Given the description of an element on the screen output the (x, y) to click on. 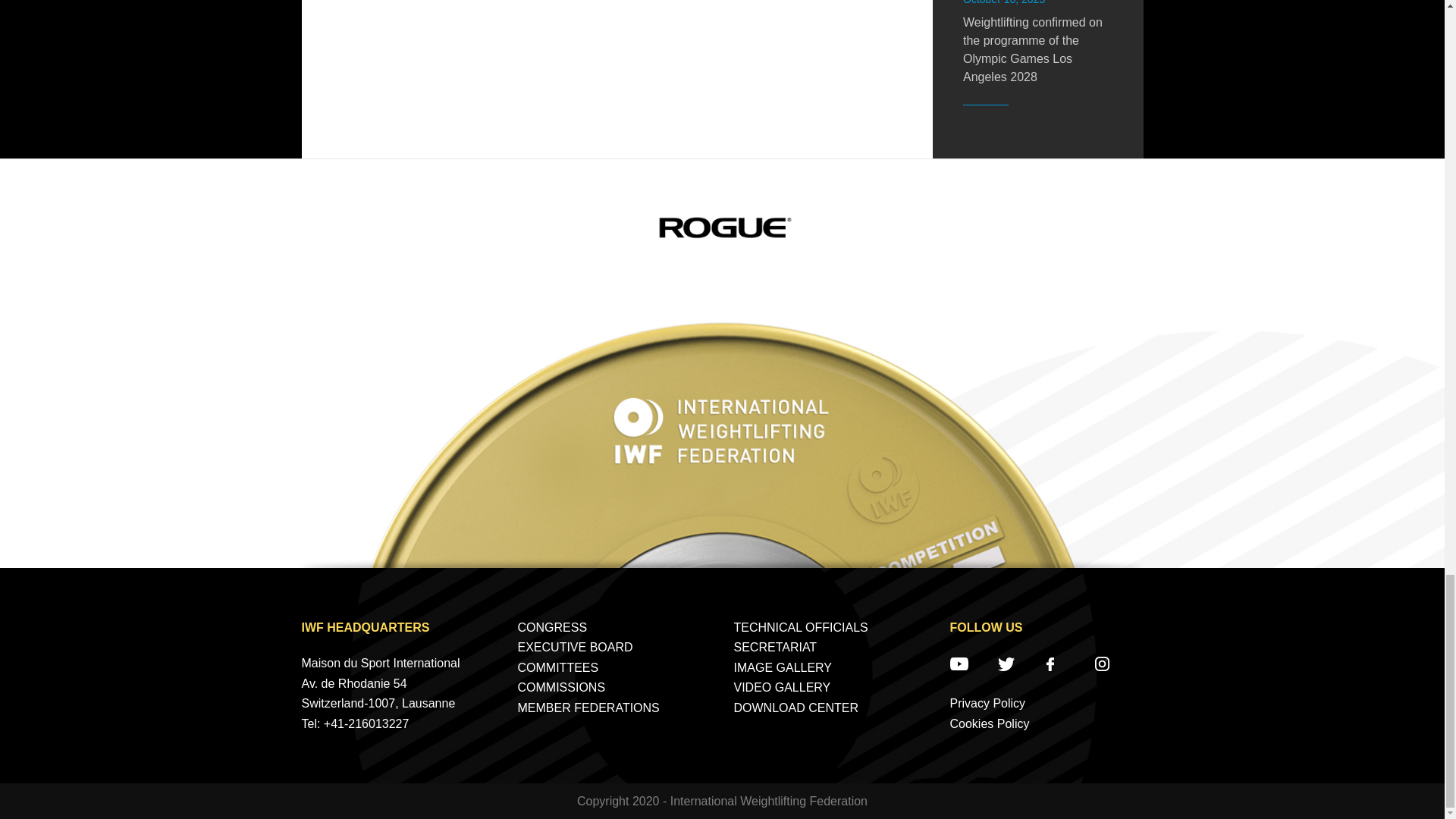
Rogue Fitness (722, 227)
